Given the description of an element on the screen output the (x, y) to click on. 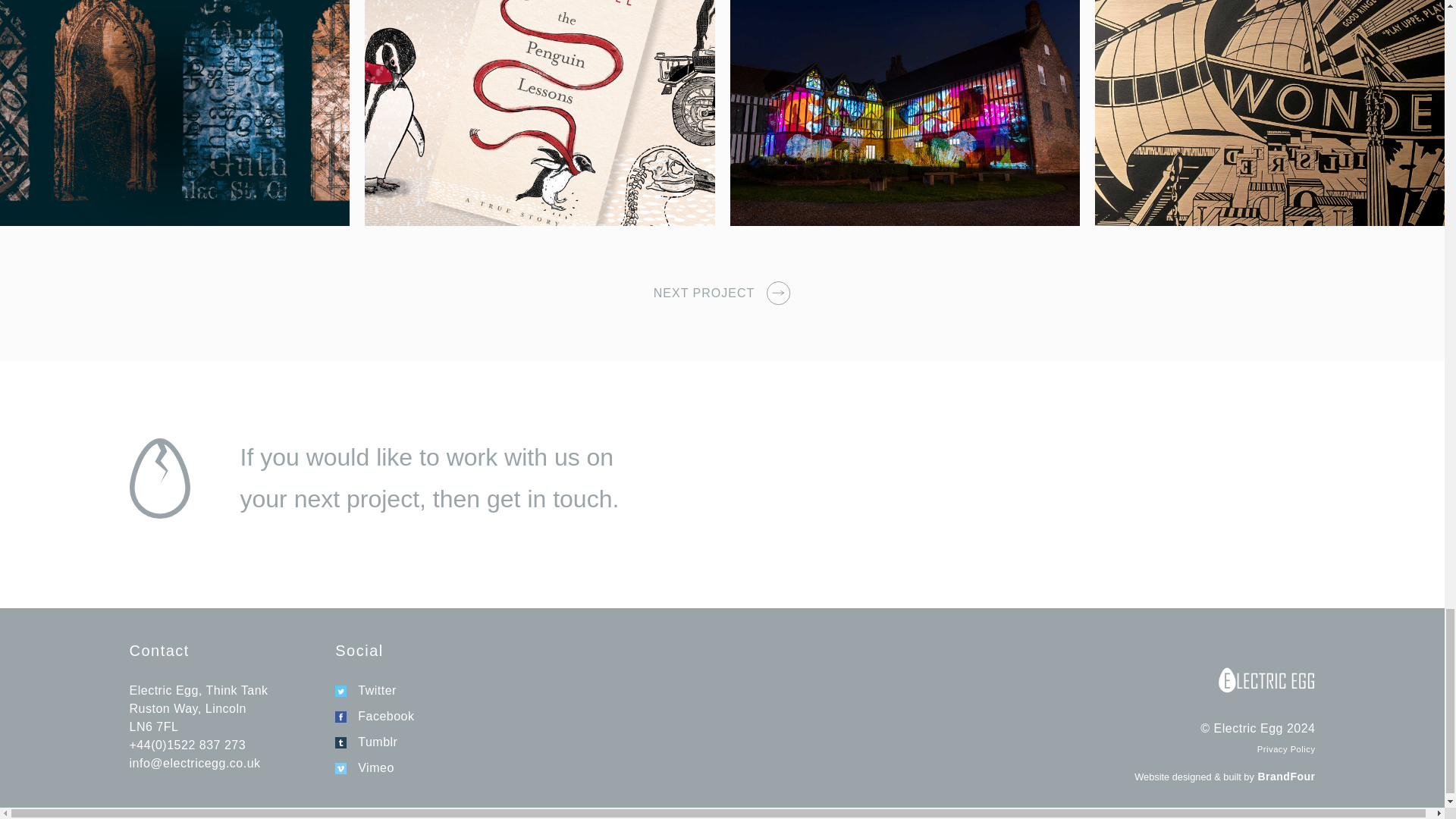
get in touch. (552, 498)
BrandFour Design and Development Agency (1285, 776)
NEXT PROJECT (704, 293)
